Given the description of an element on the screen output the (x, y) to click on. 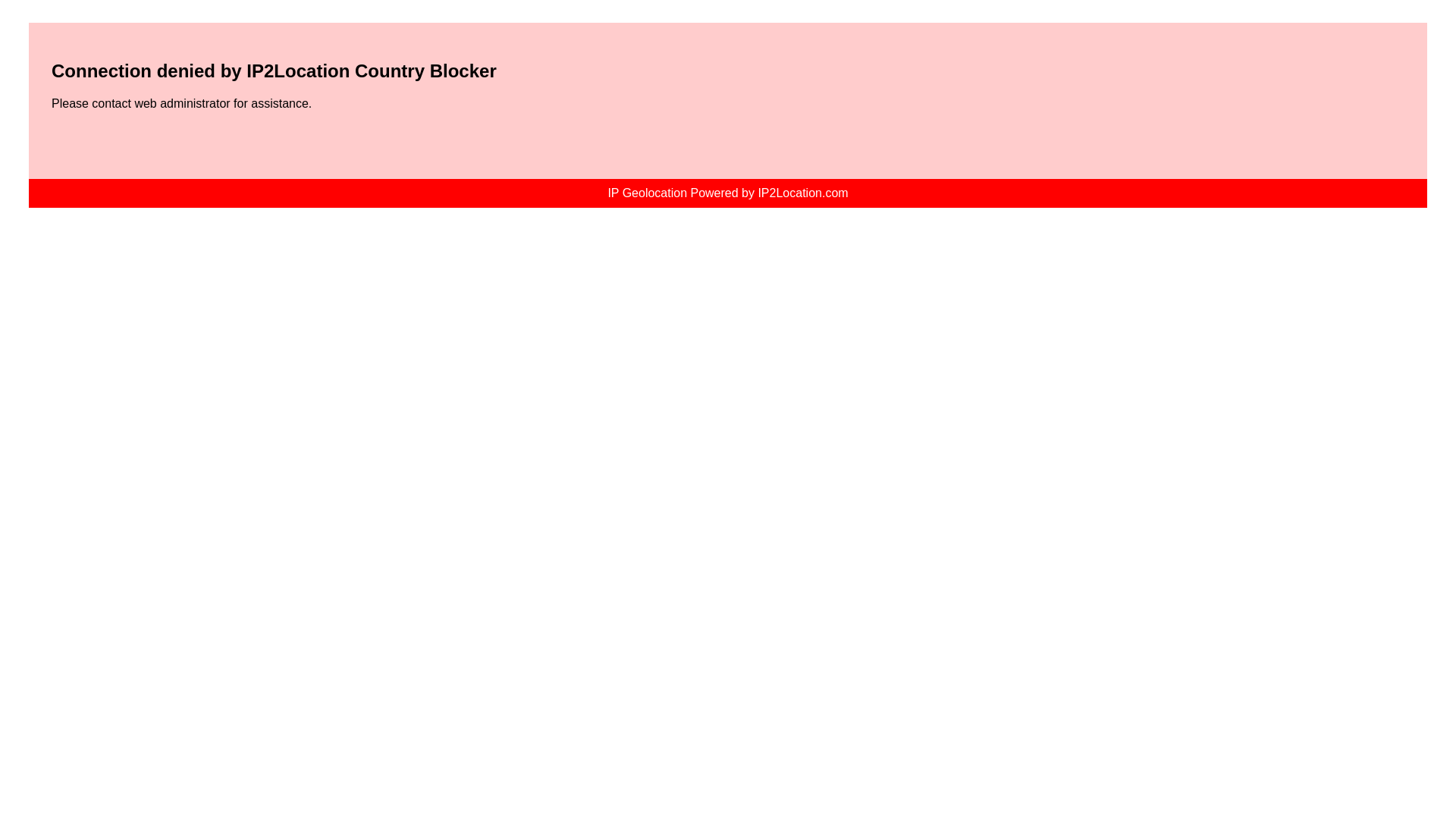
IP Geolocation Powered by IP2Location.com (727, 192)
